Given the description of an element on the screen output the (x, y) to click on. 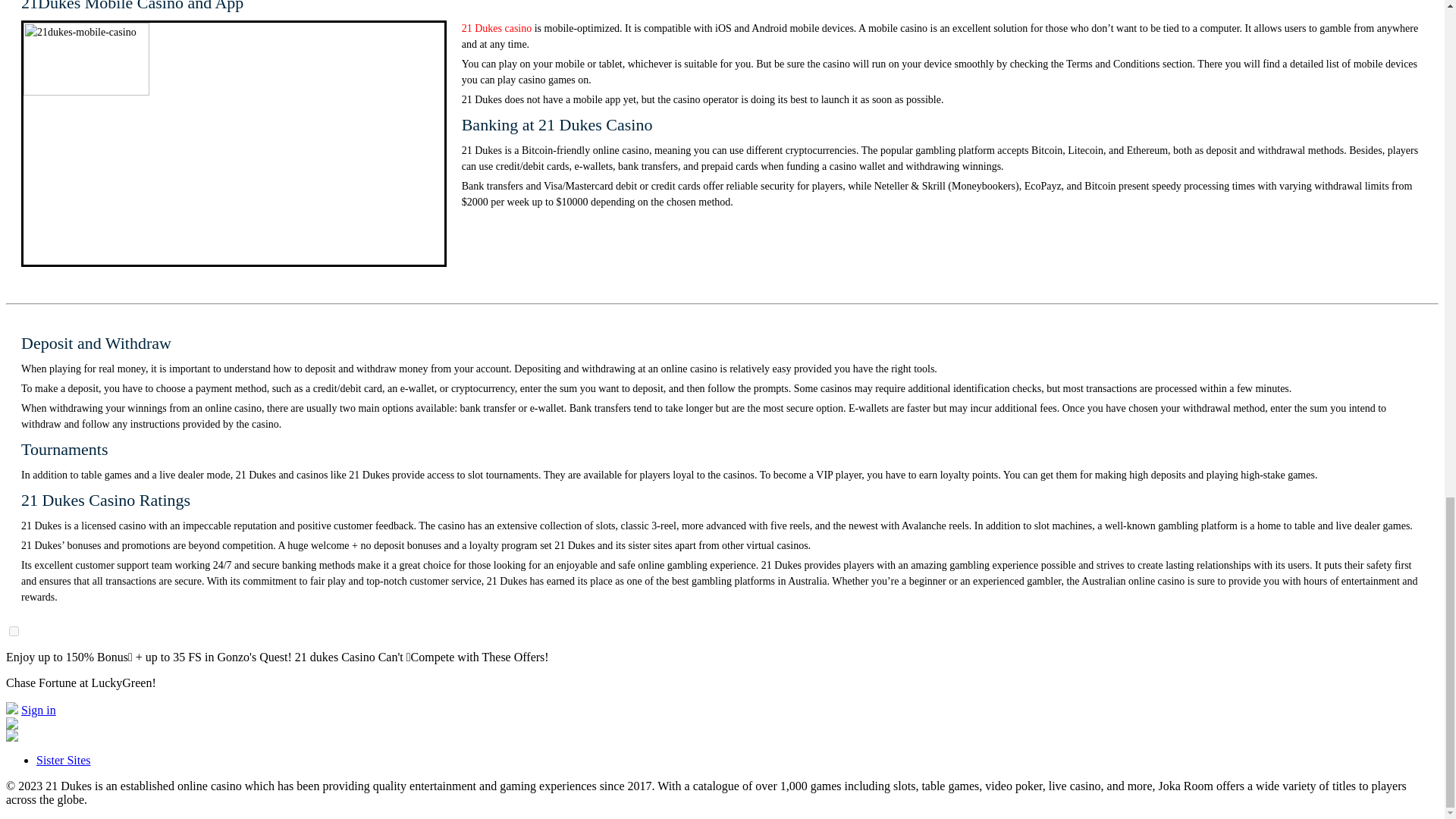
Sister Sites (63, 759)
21 Dukes casino (496, 28)
on (13, 631)
Sign in (38, 709)
